Given the description of an element on the screen output the (x, y) to click on. 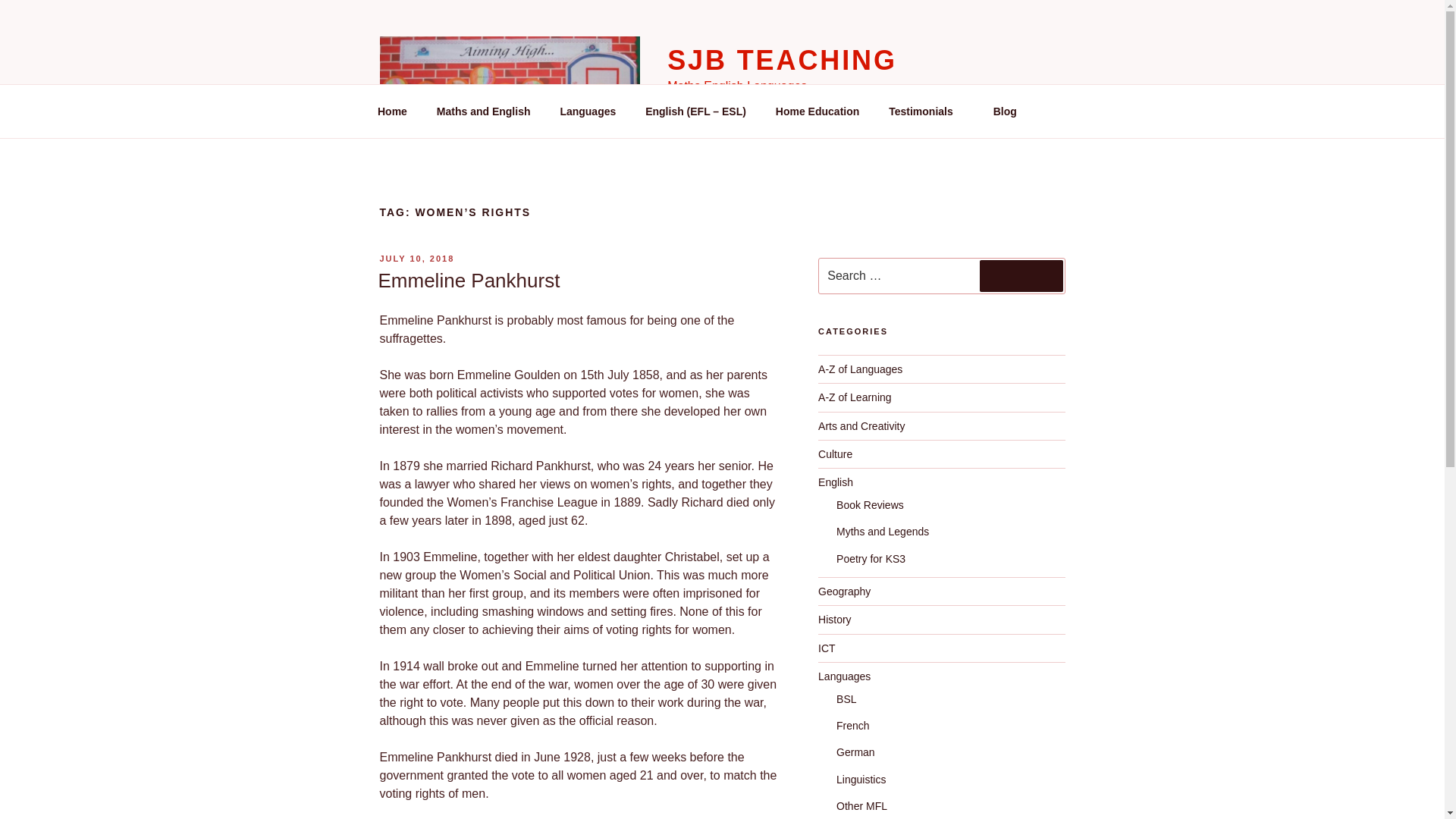
ICT (826, 648)
SJB TEACHING (781, 60)
Languages (587, 110)
BSL (845, 698)
Emmeline Pankhurst (468, 280)
Myths and Legends (881, 531)
A-Z of Languages (860, 369)
Arts and Creativity (861, 426)
Home Education (816, 110)
Home (392, 110)
